Given the description of an element on the screen output the (x, y) to click on. 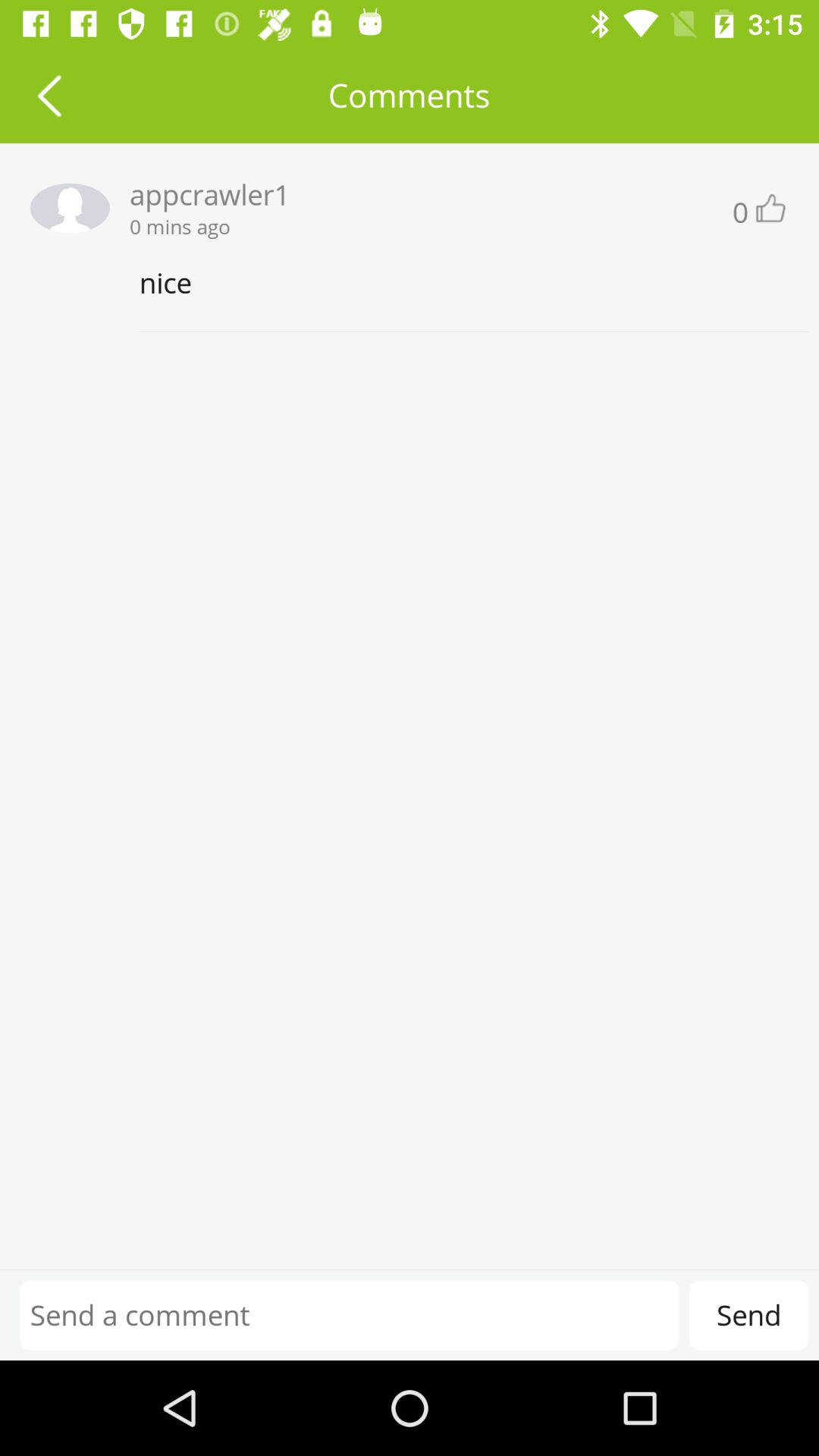
scroll to the send (748, 1315)
